Given the description of an element on the screen output the (x, y) to click on. 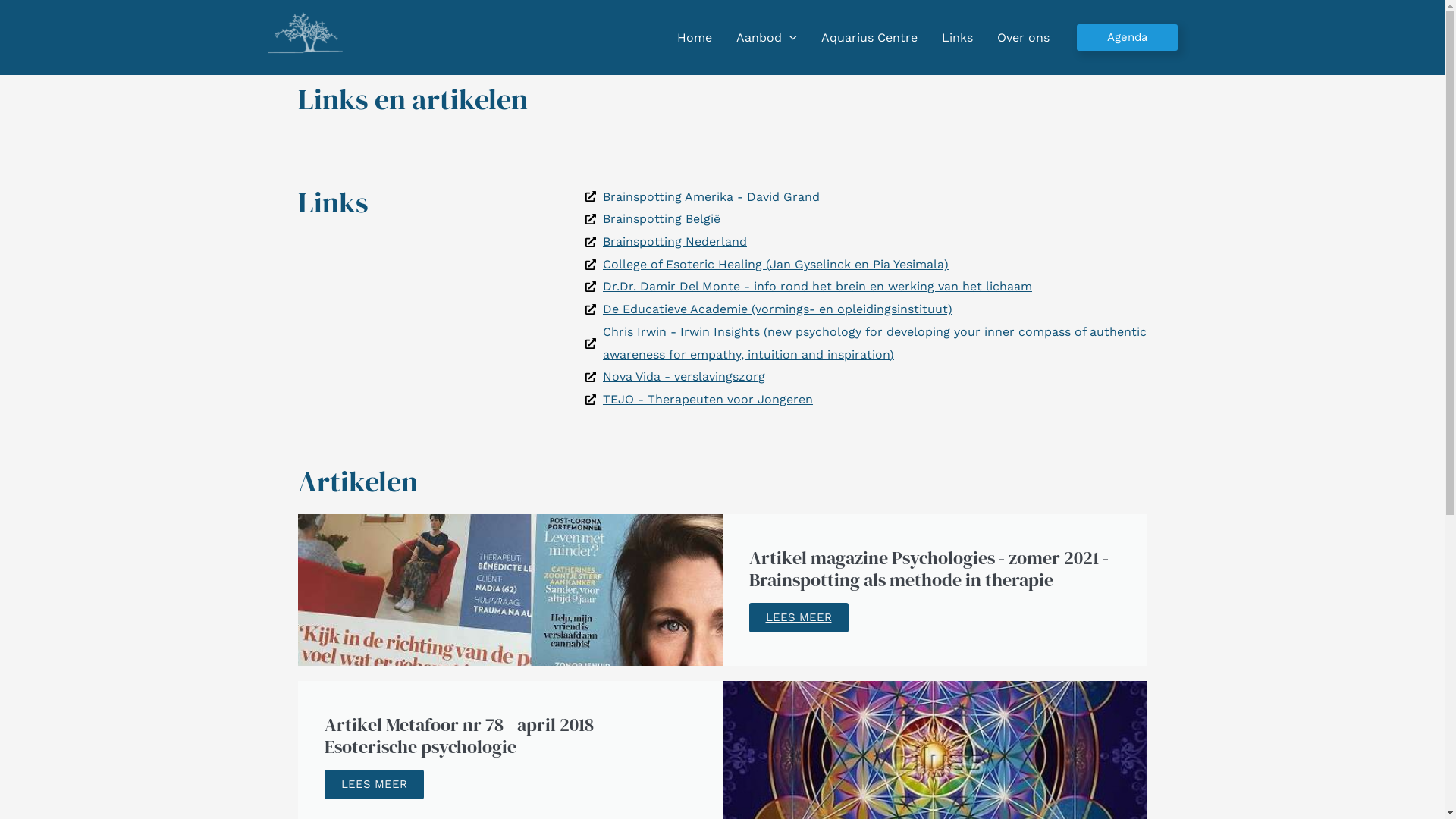
Aanbod Element type: text (766, 36)
Agenda Element type: text (1126, 37)
Over ons Element type: text (1022, 36)
Home Element type: text (694, 36)
Links Element type: text (957, 36)
College of Esoteric Healing (Jan Gyselinck en Pia Yesimala) Element type: text (865, 264)
Brainspotting Nederland Element type: text (865, 241)
De Educatieve Academie (vormings- en opleidingsinstituut) Element type: text (865, 309)
TEJO - Therapeuten voor Jongeren Element type: text (865, 399)
Nova Vida - verslavingszorg Element type: text (865, 376)
LEES MEER Element type: text (798, 617)
Aquarius Centre Element type: text (868, 36)
Brainspotting Amerika - David Grand Element type: text (865, 196)
LEES MEER Element type: text (373, 784)
